Given the description of an element on the screen output the (x, y) to click on. 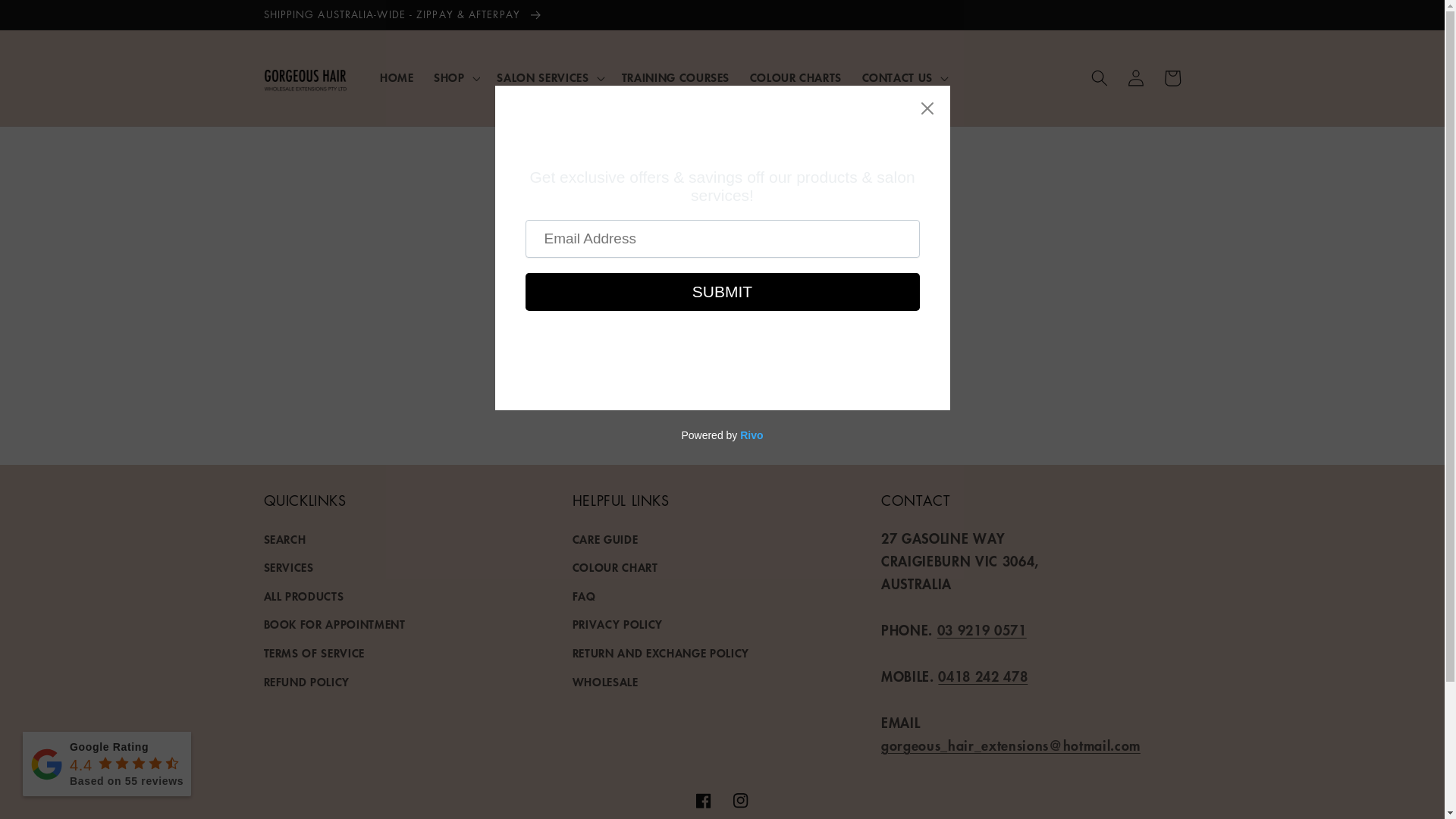
PRIVACY POLICY Element type: text (617, 624)
FAQ Element type: text (584, 595)
BOOK FOR APPOINTMENT Element type: text (334, 624)
REFUND POLICY Element type: text (306, 681)
CARE GUIDE Element type: text (605, 541)
gorgeous_hair_extensions@hotmail.com Element type: text (1010, 745)
TERMS OF SERVICE Element type: text (314, 653)
COLOUR CHART Element type: text (615, 567)
SHIPPING AUSTRALIA-WIDE - ZIPPAY & AFTERPAY Element type: text (722, 14)
HOME Element type: text (396, 77)
WHOLESALE Element type: text (605, 681)
SERVICES Element type: text (288, 567)
COLOUR CHARTS Element type: text (795, 77)
03 9219 0571 Element type: text (981, 630)
ALL PRODUCTS Element type: text (303, 595)
Log in Element type: text (1135, 77)
RETURN AND EXCHANGE POLICY Element type: text (660, 653)
Continue shopping Element type: text (722, 350)
SEARCH Element type: text (284, 541)
TRAINING COURSES Element type: text (675, 77)
Facebook Element type: text (703, 799)
0418 242 478 Element type: text (982, 676)
Cart Element type: text (1172, 77)
Instagram Element type: text (739, 799)
